Given the description of an element on the screen output the (x, y) to click on. 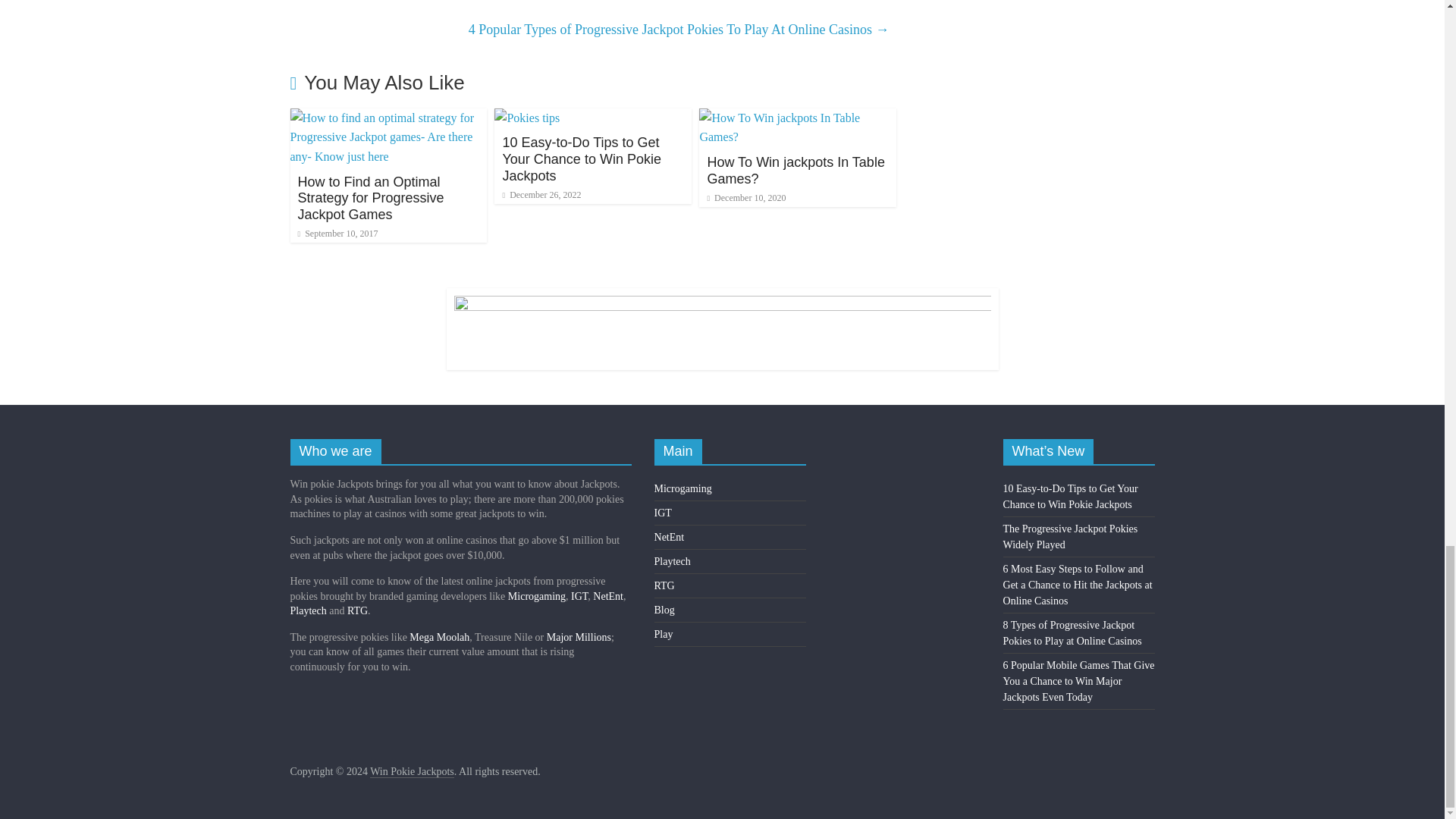
December 10, 2020 (746, 197)
How To Win jackpots In Table Games? (794, 170)
How To Win jackpots In Table Games? (794, 170)
How To Win jackpots In Table Games? (797, 117)
10 Easy-to-Do Tips to Get Your Chance to Win Pokie Jackpots (527, 117)
4:09 am (337, 233)
10:53 am (746, 197)
December 26, 2022 (541, 194)
10 Easy-to-Do Tips to Get Your Chance to Win Pokie Jackpots (581, 158)
